Given the description of an element on the screen output the (x, y) to click on. 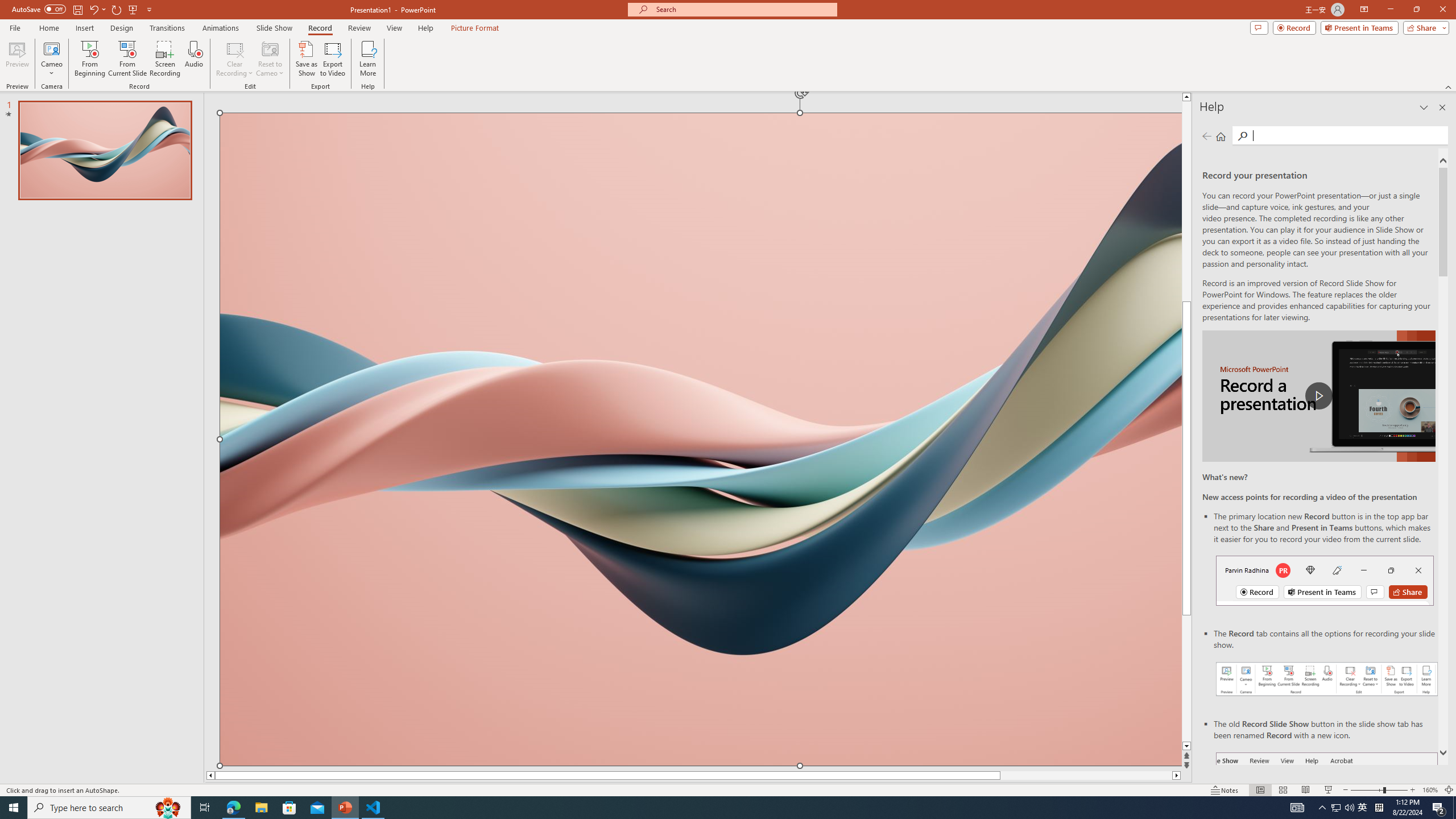
Customize Quick Access Toolbar (149, 9)
Review (359, 28)
Audio (193, 58)
Notes  (1225, 790)
Minimize (1390, 9)
Line up (1186, 96)
Search (1241, 136)
Preview (17, 58)
Save as Show (306, 58)
Redo (117, 9)
Insert (83, 28)
Present in Teams (1359, 27)
Comments (1259, 27)
Quick Access Toolbar (82, 9)
Design (122, 28)
